Given the description of an element on the screen output the (x, y) to click on. 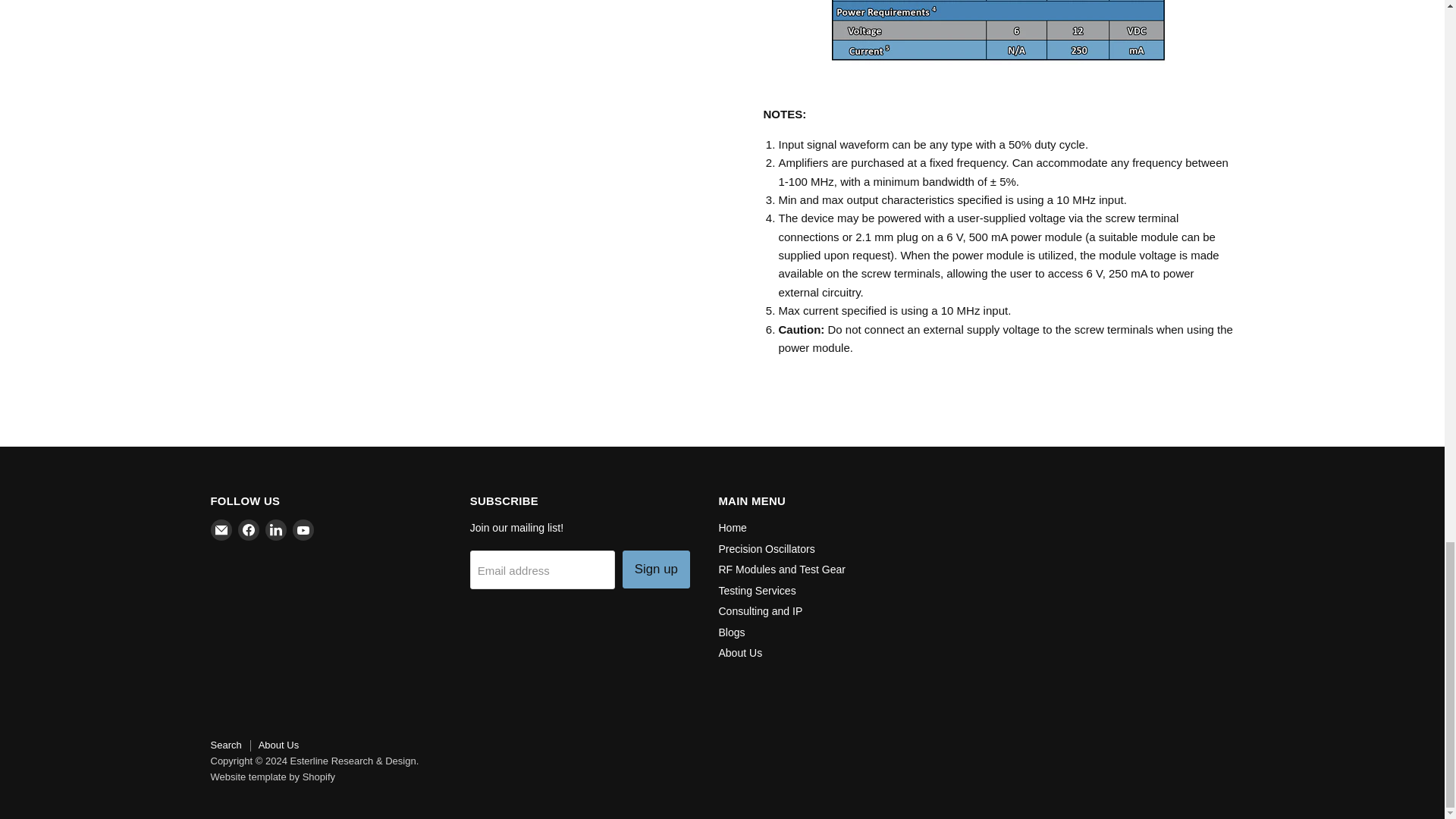
Facebook (248, 529)
Email (221, 529)
YouTube (303, 529)
LinkedIn (275, 529)
